Given the description of an element on the screen output the (x, y) to click on. 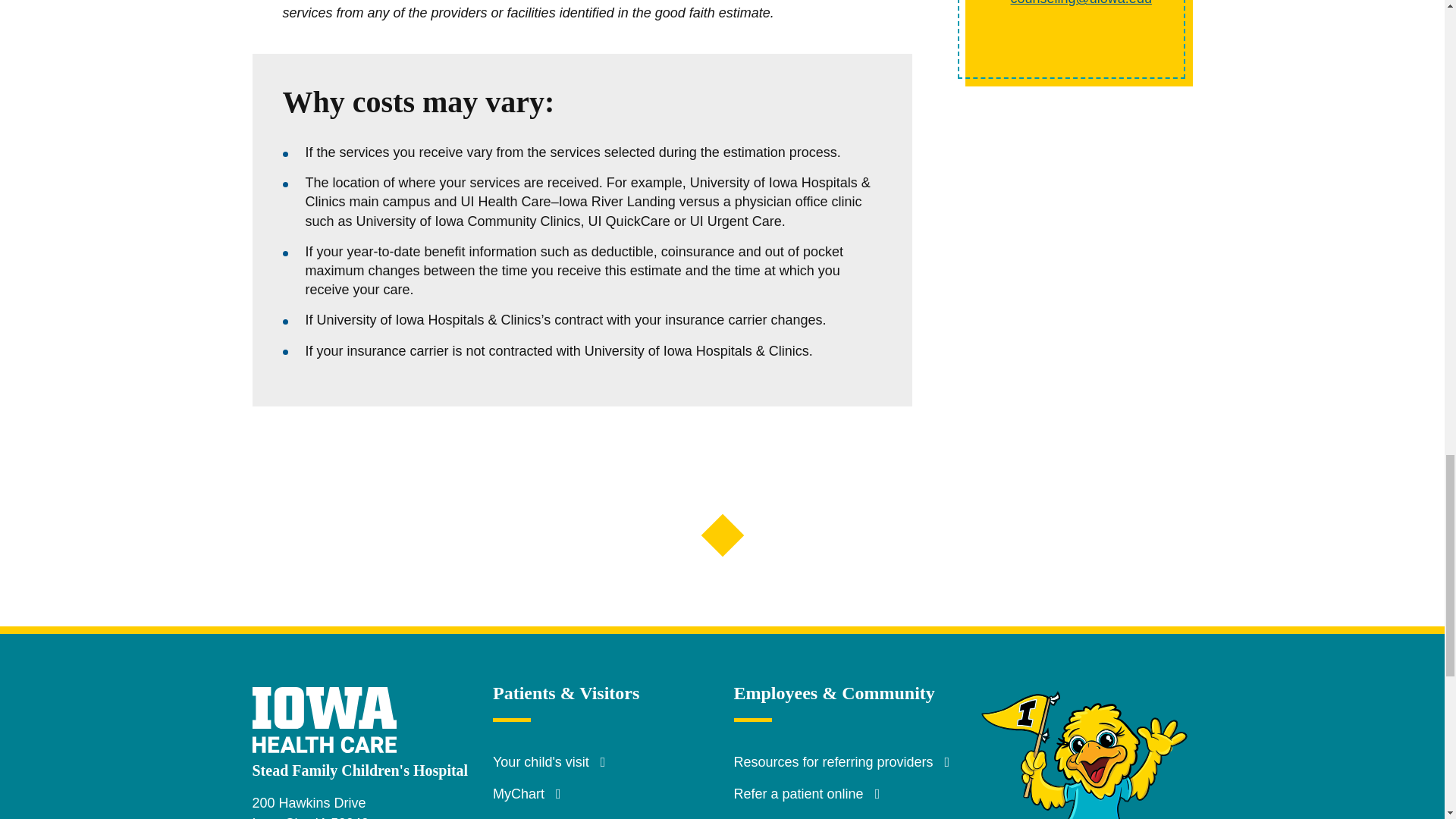
Home (338, 708)
